Given the description of an element on the screen output the (x, y) to click on. 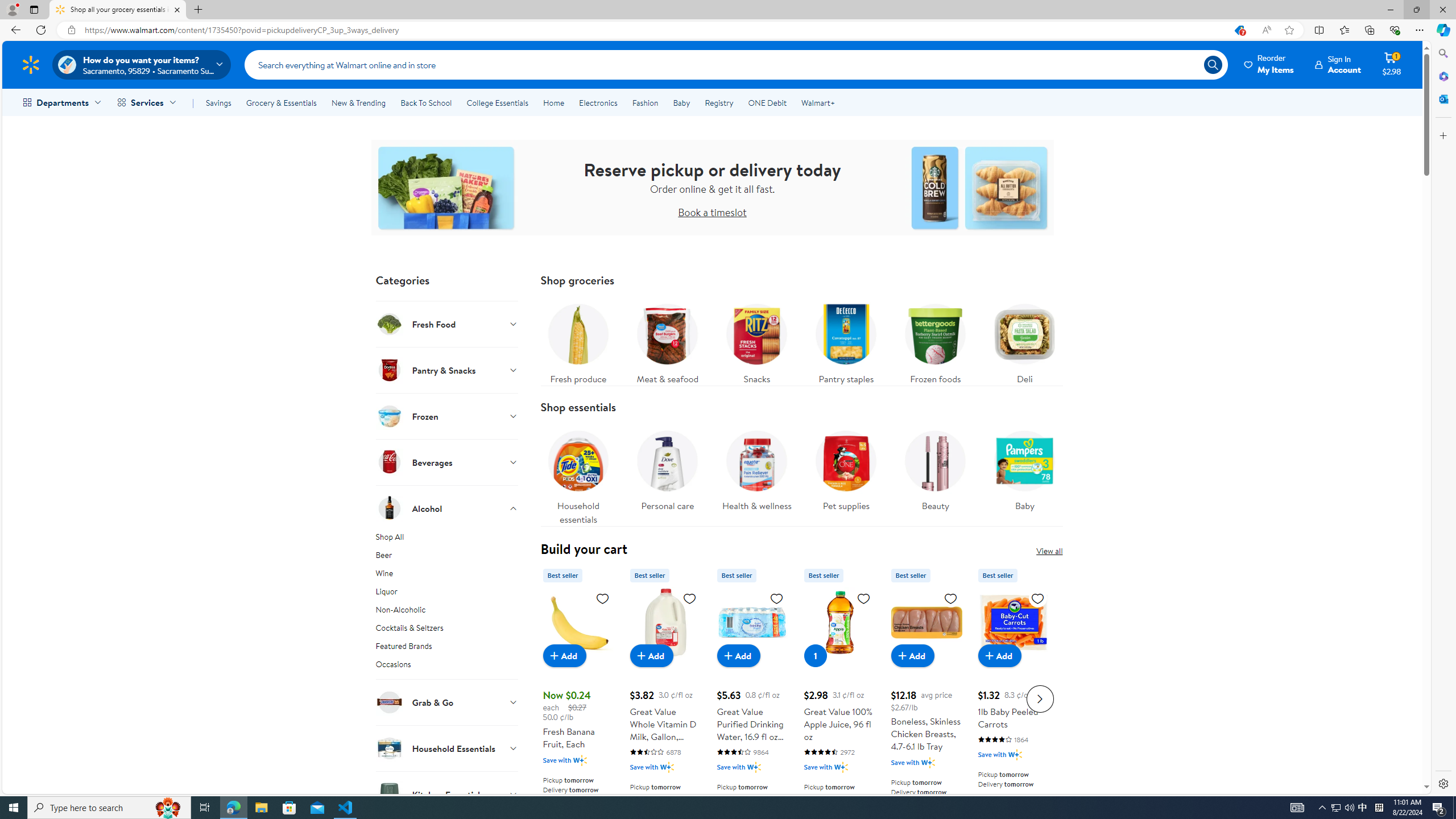
Sign In Account (1338, 64)
Address and search bar (653, 29)
View site information (70, 29)
Home (553, 102)
Savings (217, 102)
Walmart Homepage (30, 64)
Minimize (1390, 9)
Liquor (446, 593)
Alcohol (446, 507)
Search (735, 64)
Shop All (446, 539)
Fashion (644, 102)
